Given the description of an element on the screen output the (x, y) to click on. 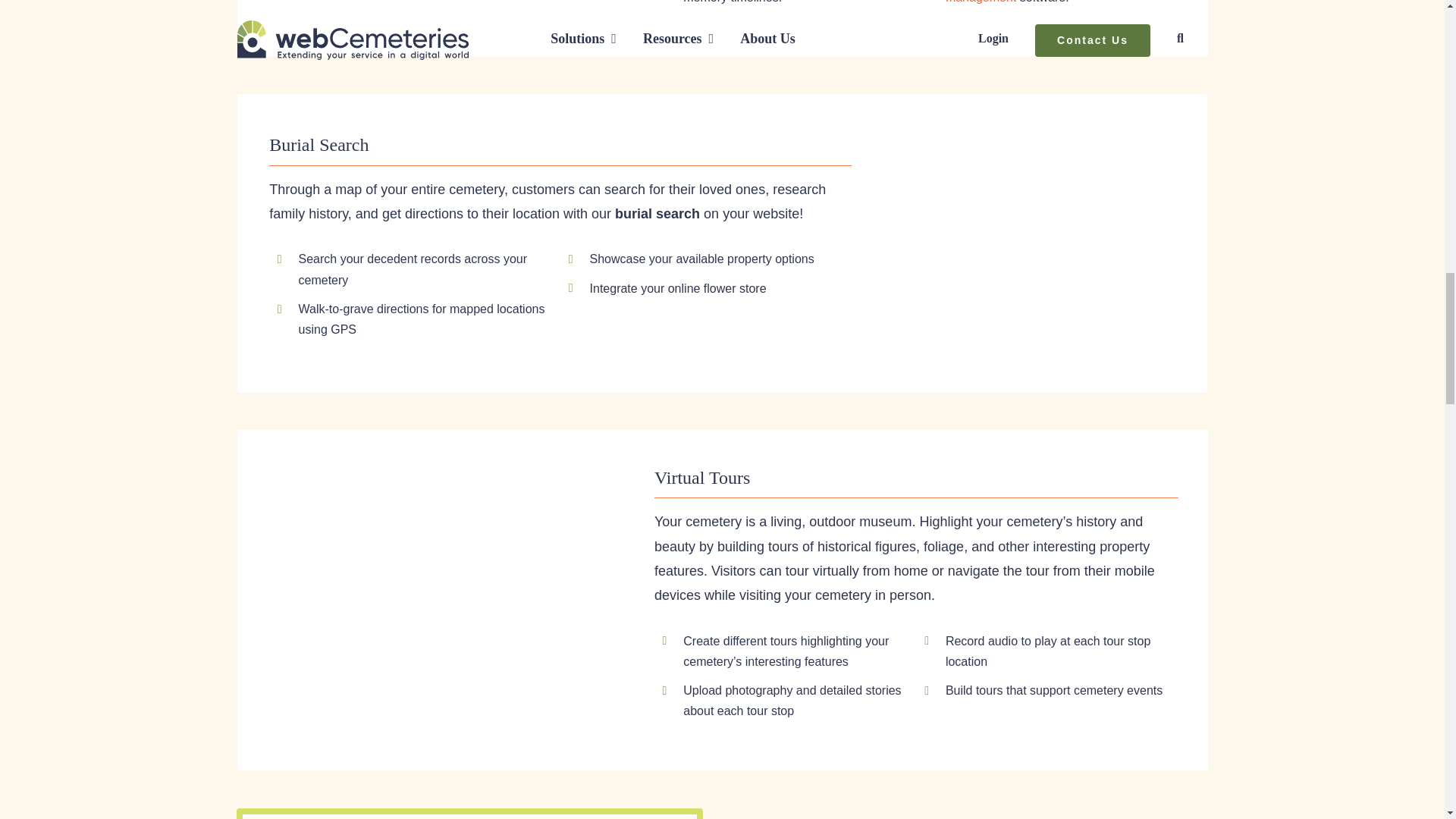
virtual-tours (440, 599)
remember-my-journey-1 (440, 13)
burial-search (1037, 243)
